Given the description of an element on the screen output the (x, y) to click on. 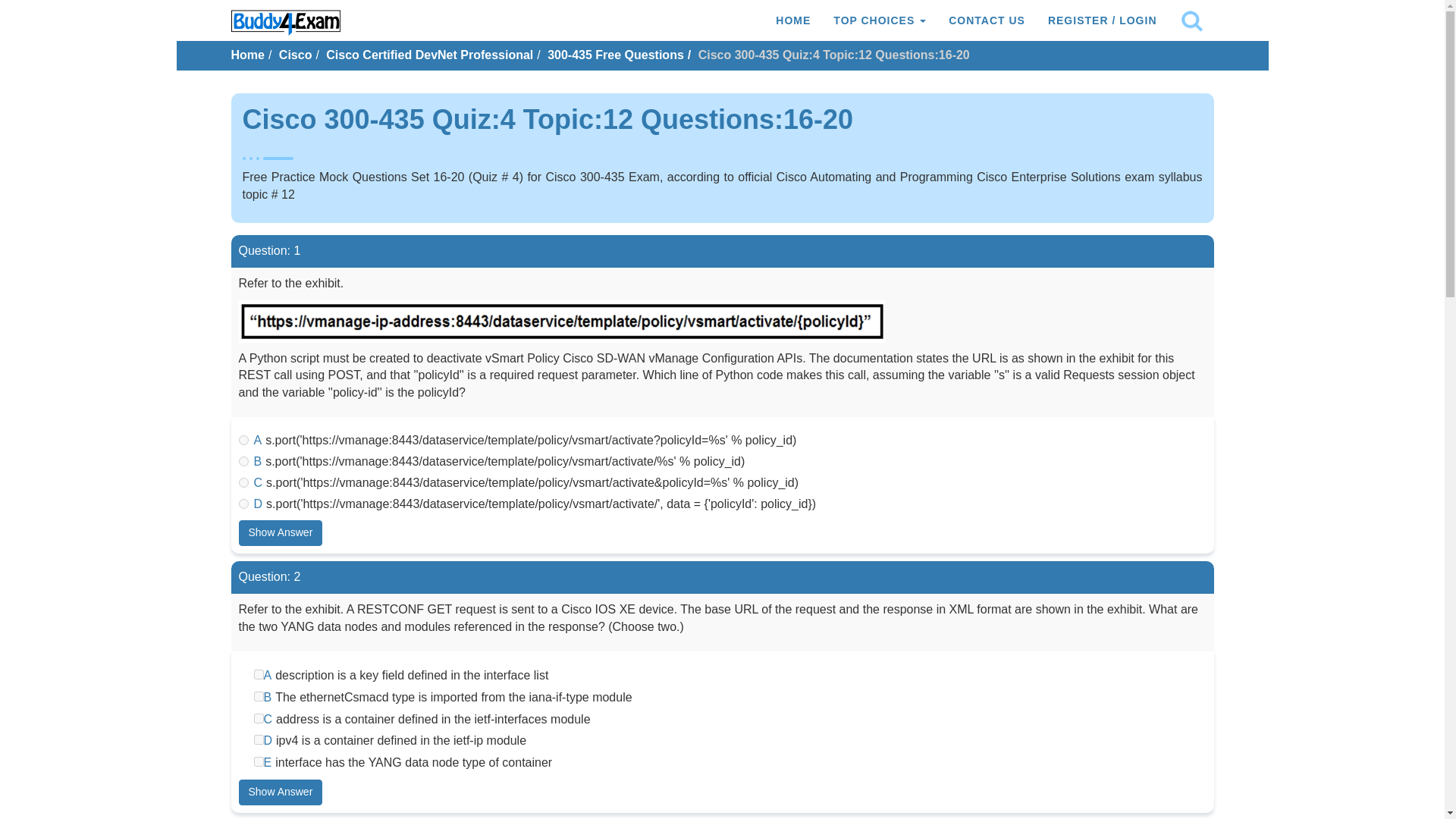
A (258, 674)
Cisco (296, 54)
TOP CHOICES (879, 20)
D (258, 739)
D (242, 503)
300-435 Free Questions (615, 54)
Cisco Certified DevNet Professional (429, 54)
C (242, 482)
B (242, 461)
C (258, 718)
B (258, 696)
A (242, 439)
HOME (793, 20)
CONTACT US (986, 20)
E (258, 761)
